Given the description of an element on the screen output the (x, y) to click on. 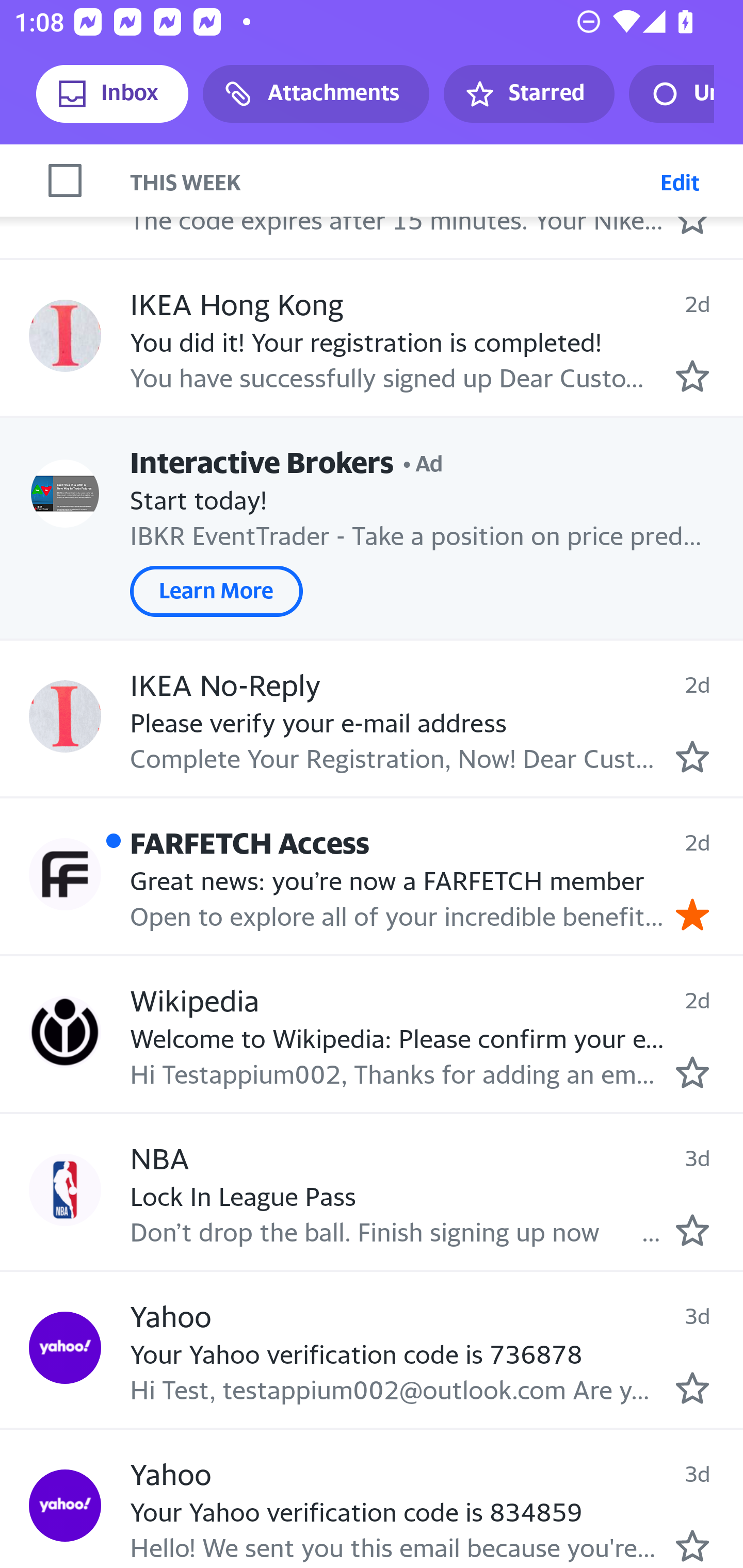
Attachments (315, 93)
Starred (528, 93)
Profile
Nike (64, 179)
Profile
IKEA Hong Kong (64, 335)
Mark as starred. (692, 375)
Profile
IKEA No-Reply (64, 716)
Mark as starred. (692, 756)
Profile
FARFETCH Access (64, 874)
Remove star. (692, 914)
Profile
Wikipedia (64, 1031)
Mark as starred. (692, 1071)
Profile
NBA (64, 1190)
Mark as starred. (692, 1230)
Profile
Yahoo (64, 1348)
Mark as starred. (692, 1388)
Profile
Yahoo (64, 1505)
Mark as starred. (692, 1545)
